Given the description of an element on the screen output the (x, y) to click on. 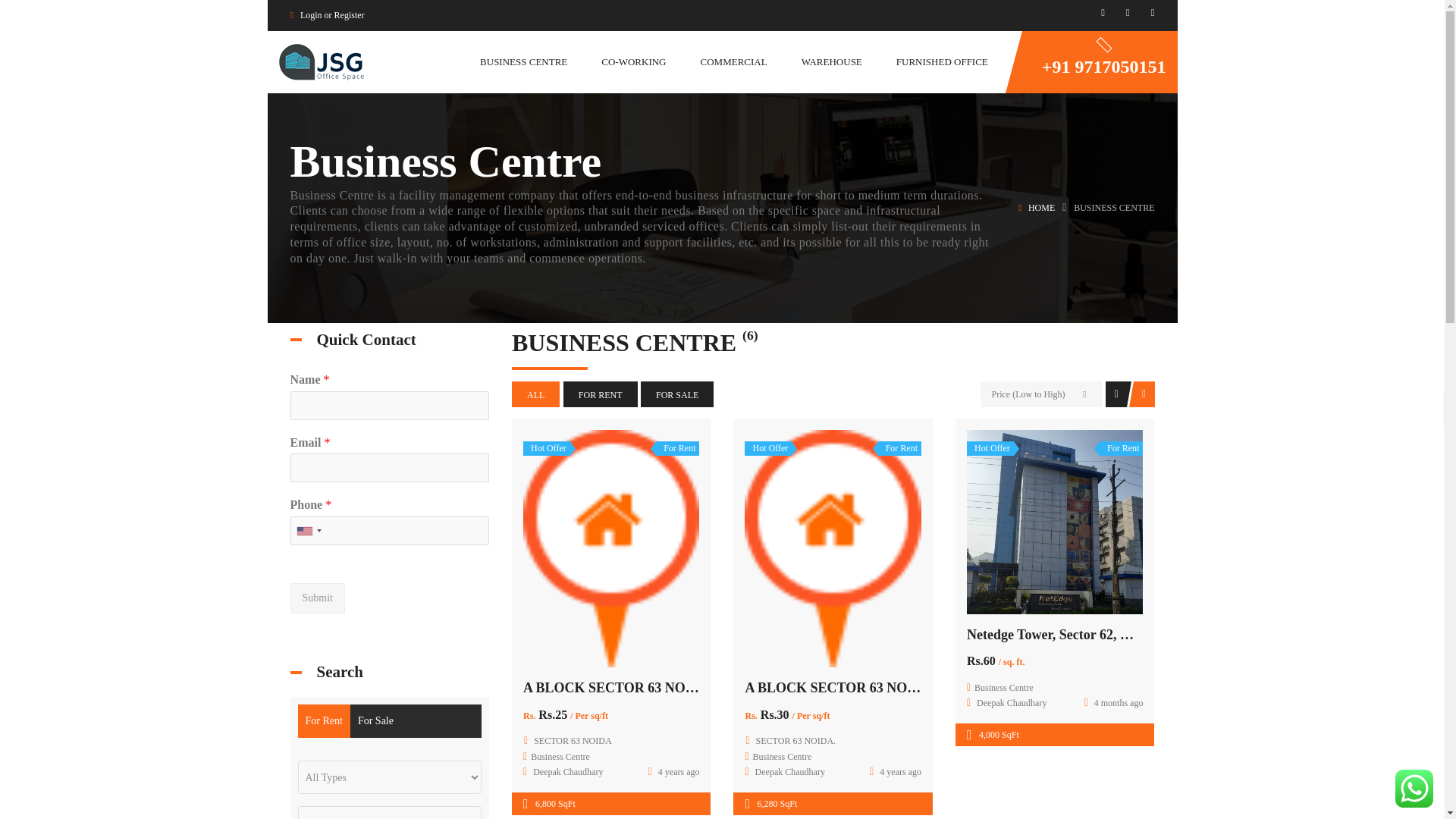
For Sale (676, 394)
FOR RENT (600, 394)
CO-WORKING (633, 61)
BUSINESS CENTRE (523, 61)
ALL (535, 394)
COMMERCIAL (733, 61)
FOR SALE (676, 394)
SECTOR 63 NOIDA (572, 740)
FURNISHED OFFICE (942, 61)
For Rent (600, 394)
WAREHOUSE (831, 61)
Login or Register (332, 14)
All (535, 394)
Business Centre (560, 756)
Deepak Chaudhary (562, 771)
